Given the description of an element on the screen output the (x, y) to click on. 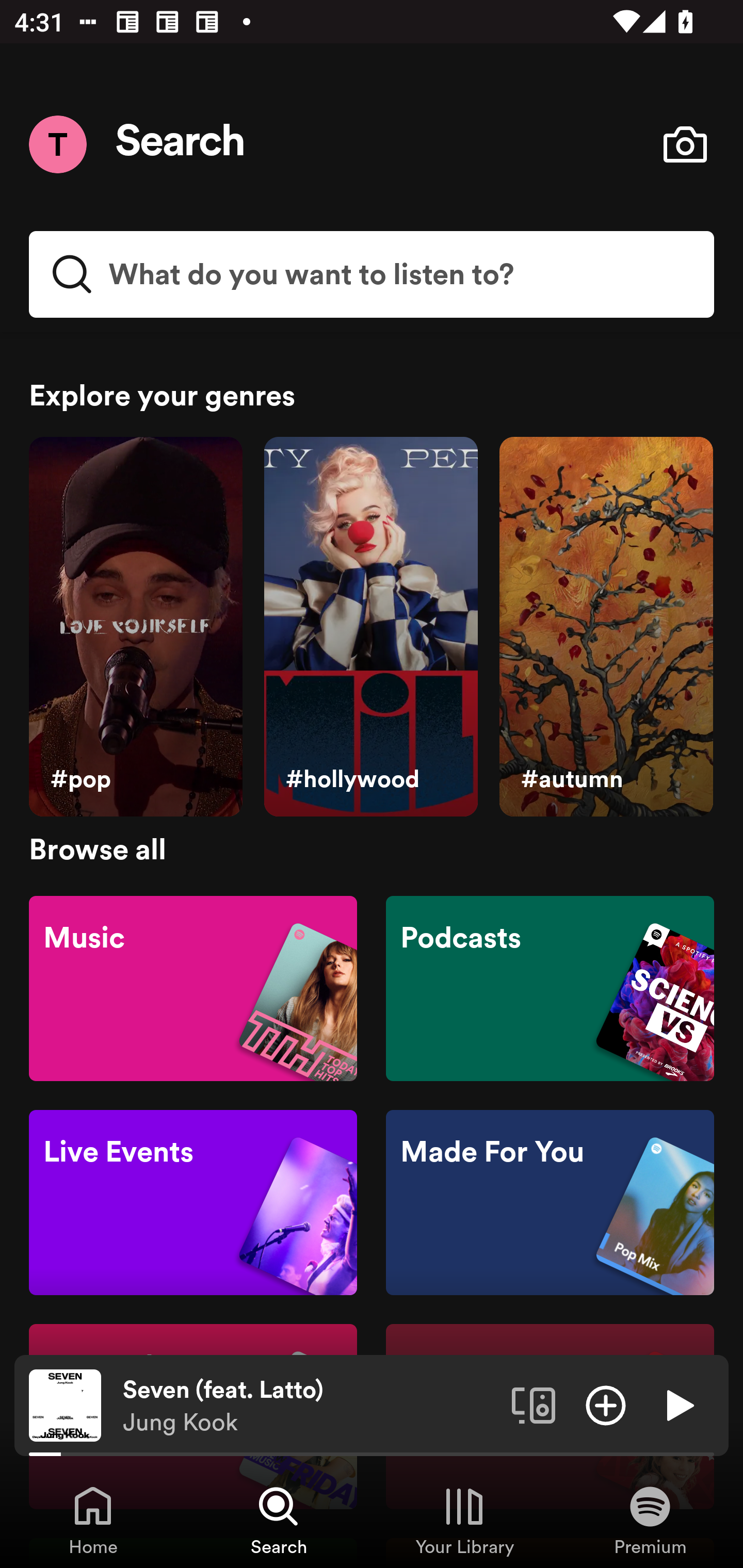
Menu (57, 144)
Open camera (685, 145)
Search (180, 144)
#pop (135, 626)
#hollywood (370, 626)
#autumn (606, 626)
Music (192, 987)
Podcasts (549, 987)
Live Events (192, 1202)
Made For You (549, 1202)
Seven (feat. Latto) Jung Kook (309, 1405)
The cover art of the currently playing track (64, 1404)
Connect to a device. Opens the devices menu (533, 1404)
Add item (605, 1404)
Play (677, 1404)
Home, Tab 1 of 4 Home Home (92, 1519)
Search, Tab 2 of 4 Search Search (278, 1519)
Your Library, Tab 3 of 4 Your Library Your Library (464, 1519)
Premium, Tab 4 of 4 Premium Premium (650, 1519)
